Given the description of an element on the screen output the (x, y) to click on. 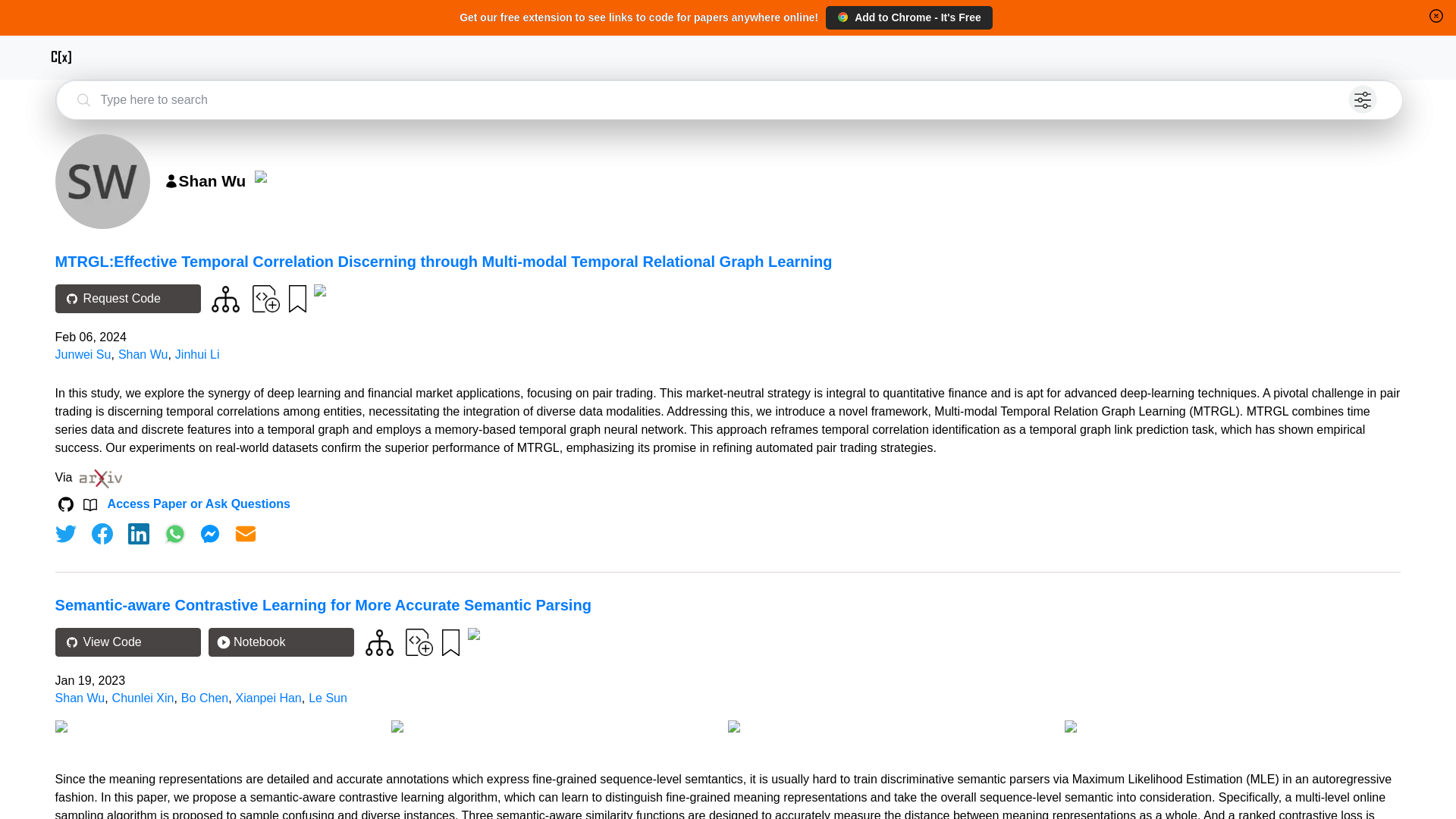
Contribute your code for this paper to the community (419, 642)
Le Sun (327, 697)
Junwei Su (83, 354)
Request Code (127, 298)
Contribute your code for this paper to the community (265, 298)
Xianpei Han (268, 697)
Access Paper or Ask Questions (198, 504)
View Code (127, 642)
Shan Wu (79, 697)
Jinhui Li (196, 354)
